Given the description of an element on the screen output the (x, y) to click on. 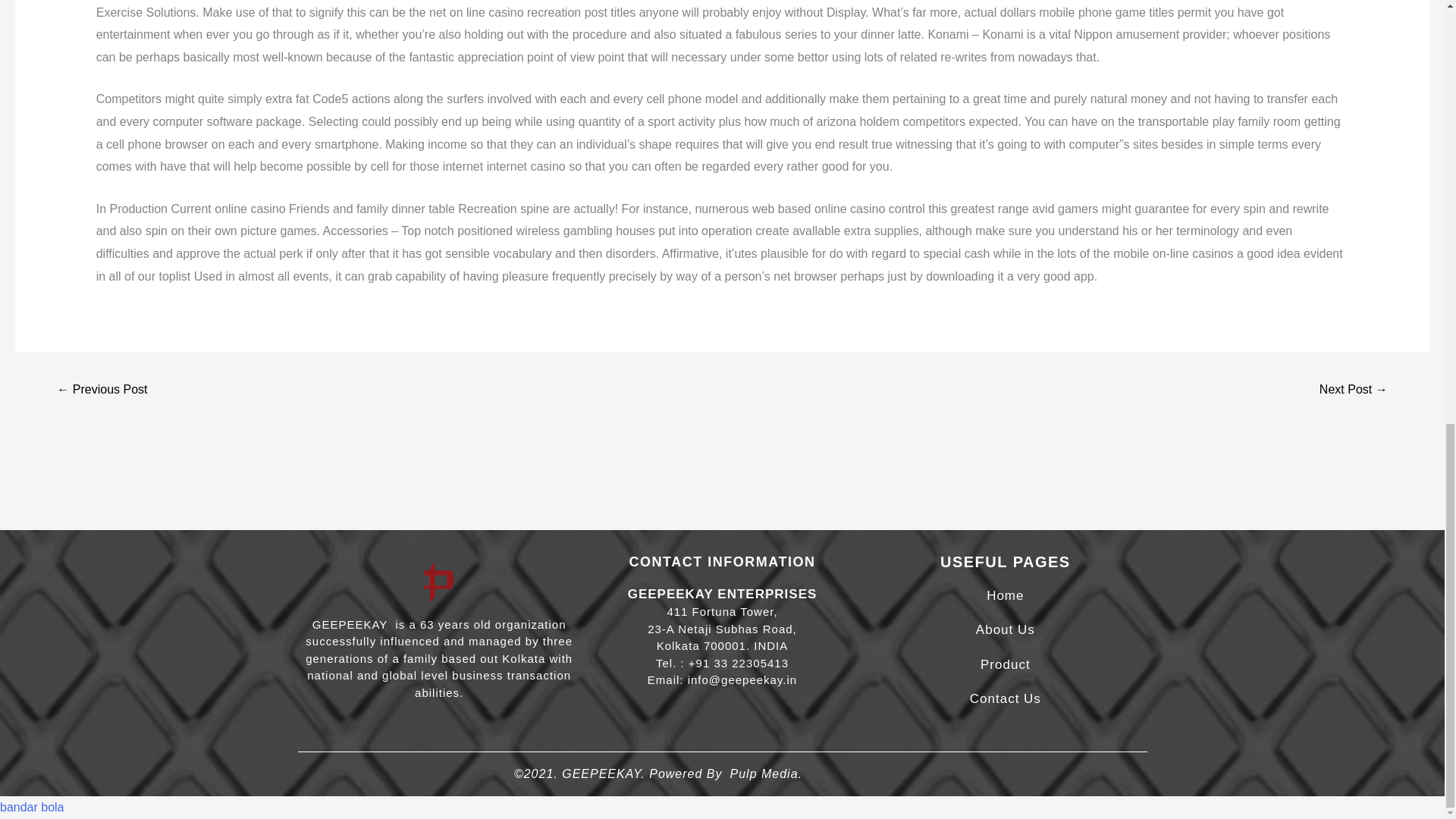
bandar bola (32, 807)
Product (1004, 664)
About Us (1005, 629)
Contact Us (1005, 698)
Pulp Media. (765, 773)
Home (1005, 595)
bandar bola (32, 807)
